Given the description of an element on the screen output the (x, y) to click on. 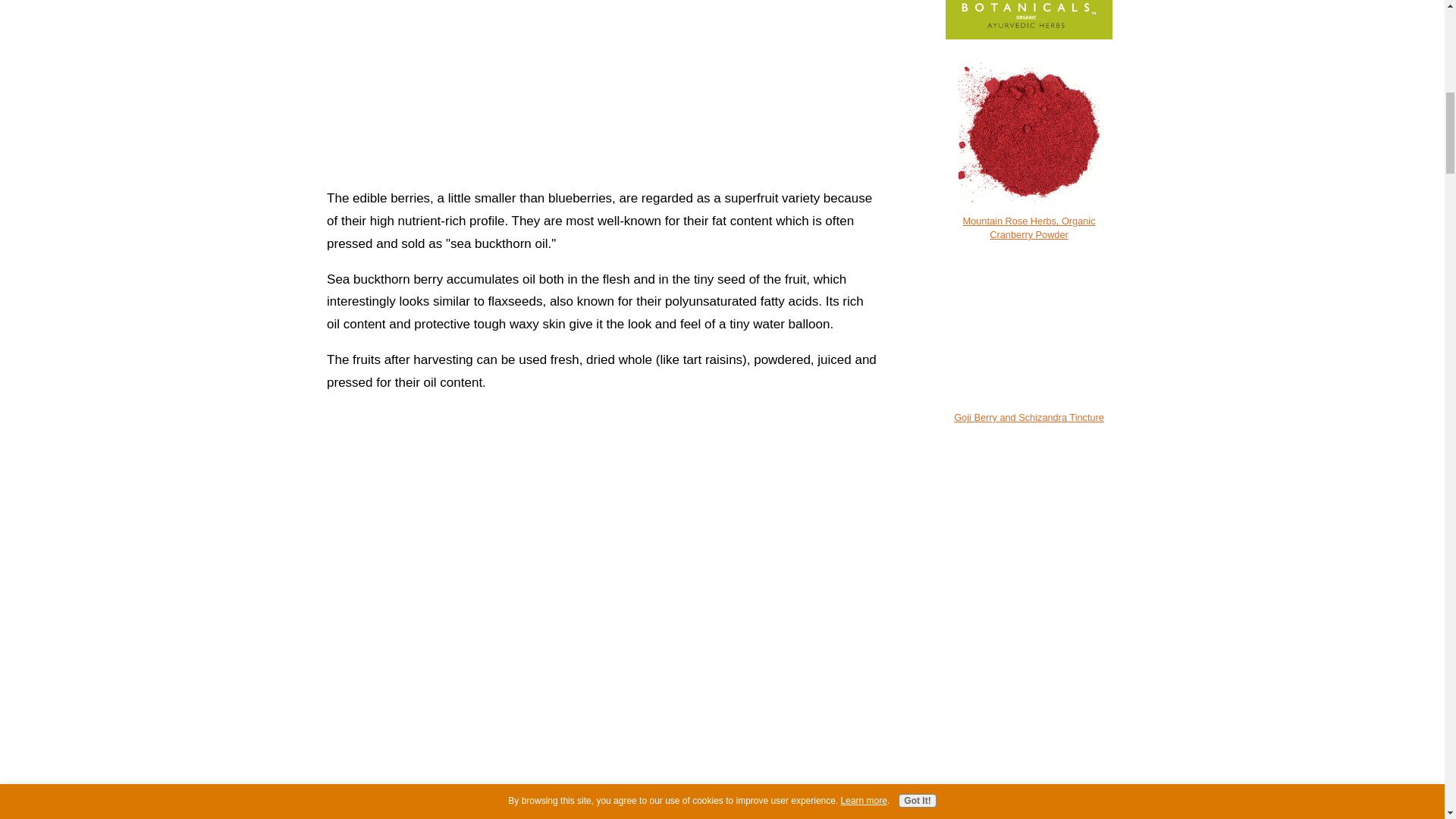
Advertisement (602, 90)
